Given the description of an element on the screen output the (x, y) to click on. 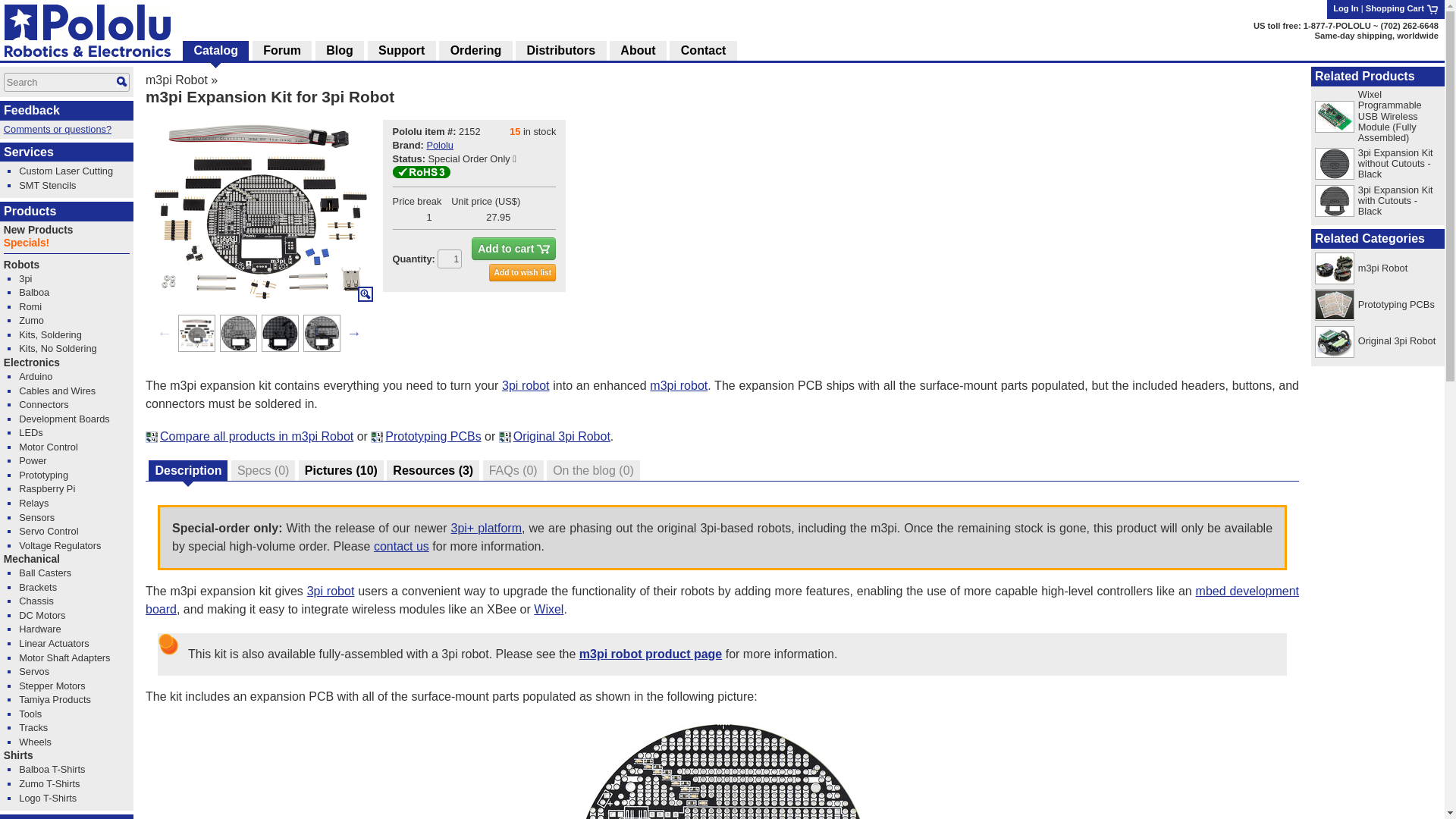
Prototyping PCBs (432, 436)
Add to wish list (522, 271)
3pi robot (526, 385)
contact us (401, 545)
Compare all products in Original 3pi Robot (561, 436)
m3pi robot product page (650, 653)
Previous (164, 332)
Click to zoom (258, 210)
Original 3pi Robot (561, 436)
go (122, 81)
